Given the description of an element on the screen output the (x, y) to click on. 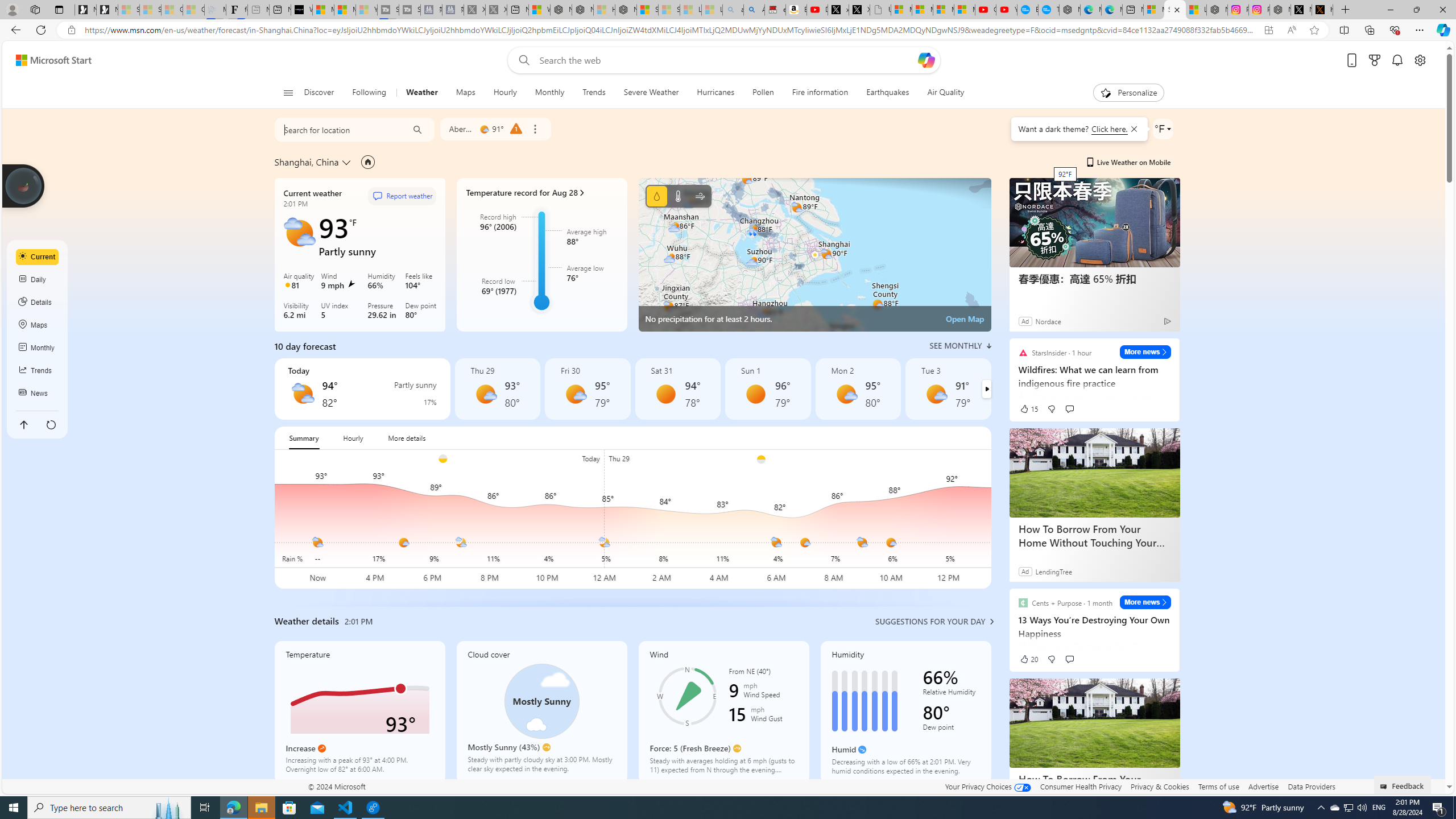
Temperature record for Aug 28 (541, 192)
Details (37, 302)
Open Map (965, 318)
Relative Humidity (951, 693)
App available. Install Microsoft Start Weather (1268, 29)
Suggestions for your day (930, 620)
